Given the description of an element on the screen output the (x, y) to click on. 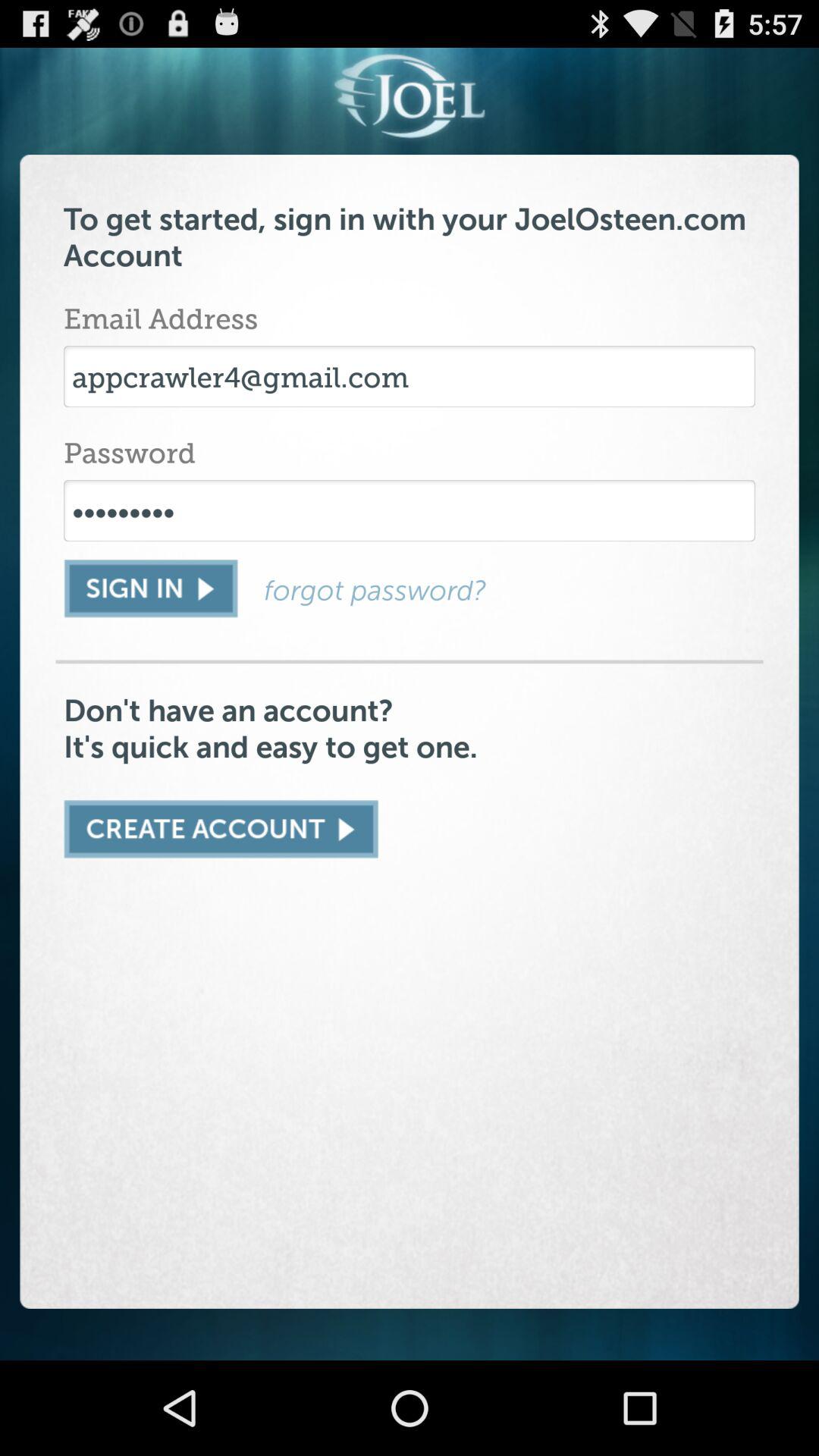
tap the icon below email address item (409, 376)
